Given the description of an element on the screen output the (x, y) to click on. 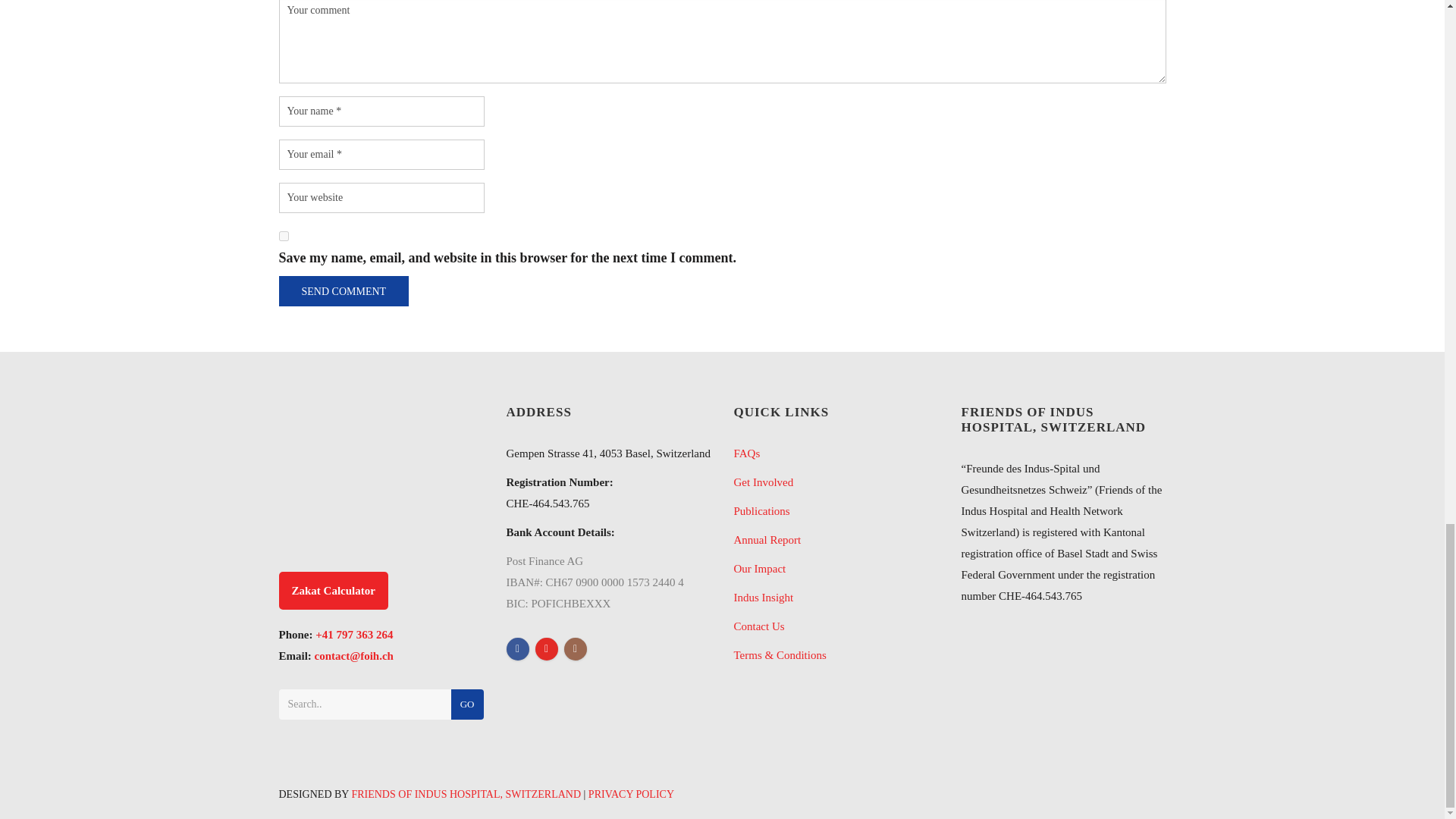
Send Comment (344, 291)
yes (283, 235)
